Given the description of an element on the screen output the (x, y) to click on. 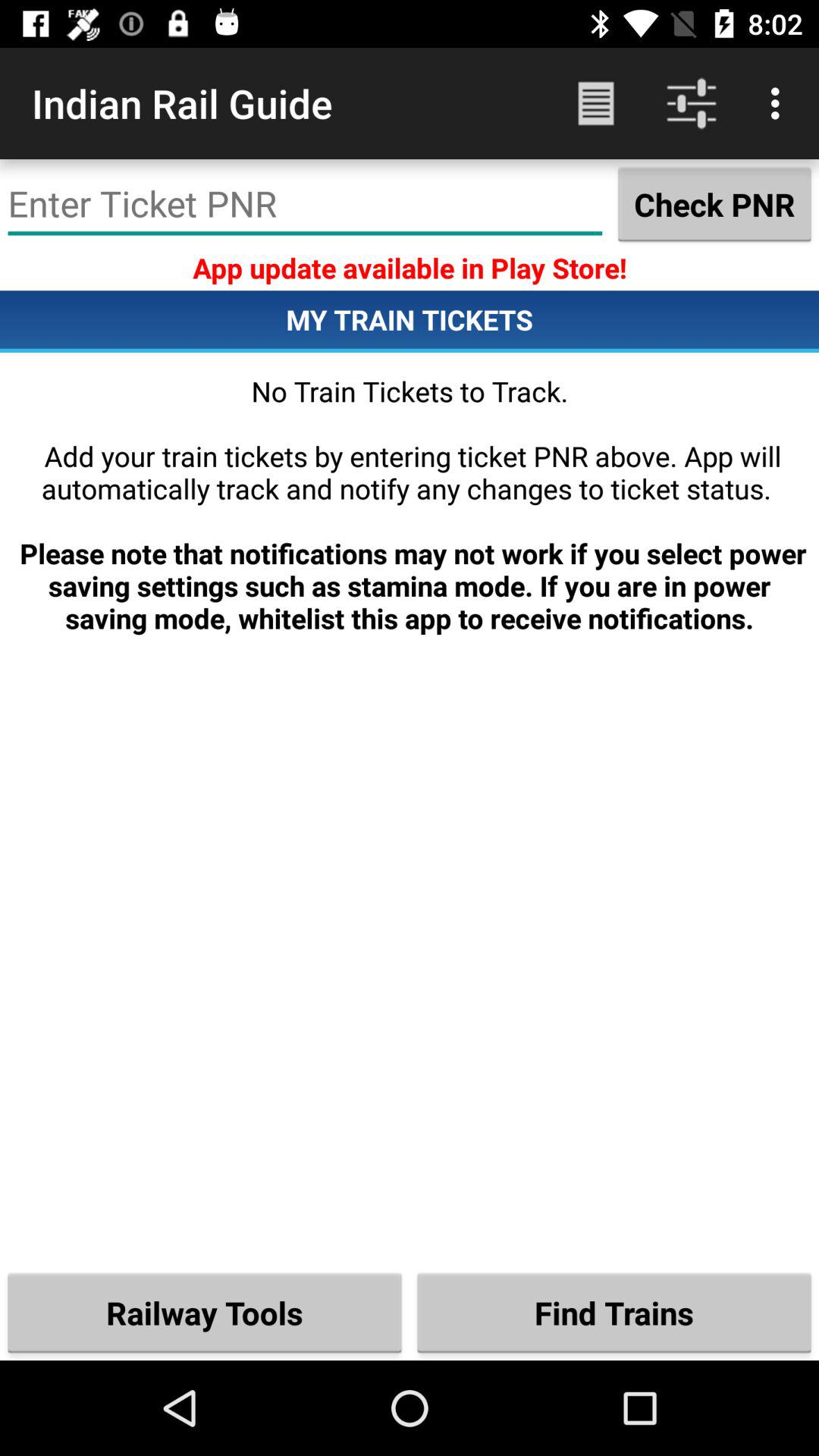
choose item to the left of check pnr icon (305, 204)
